Given the description of an element on the screen output the (x, y) to click on. 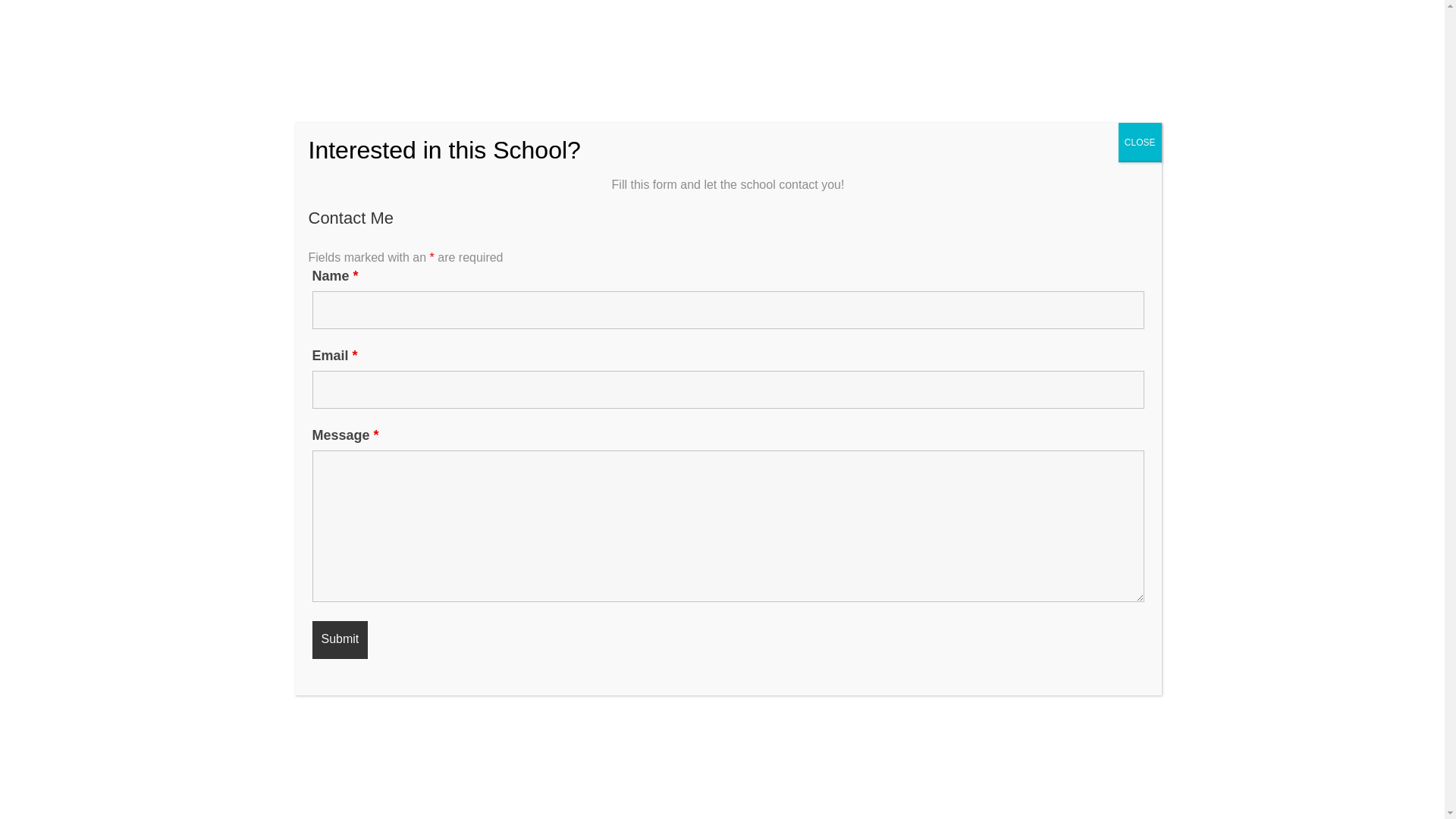
Description (308, 477)
Rome (343, 375)
Italy (313, 375)
Not rated yet! (318, 345)
CLOSE (1139, 142)
Not rated yet! (327, 345)
Share (892, 410)
Share (892, 410)
Compare (988, 410)
Not rated yet! (307, 345)
HOME (1004, 31)
Add to favorites (1106, 410)
Not rated yet! (298, 345)
BLOG (1061, 31)
CONTACT (1118, 31)
